Given the description of an element on the screen output the (x, y) to click on. 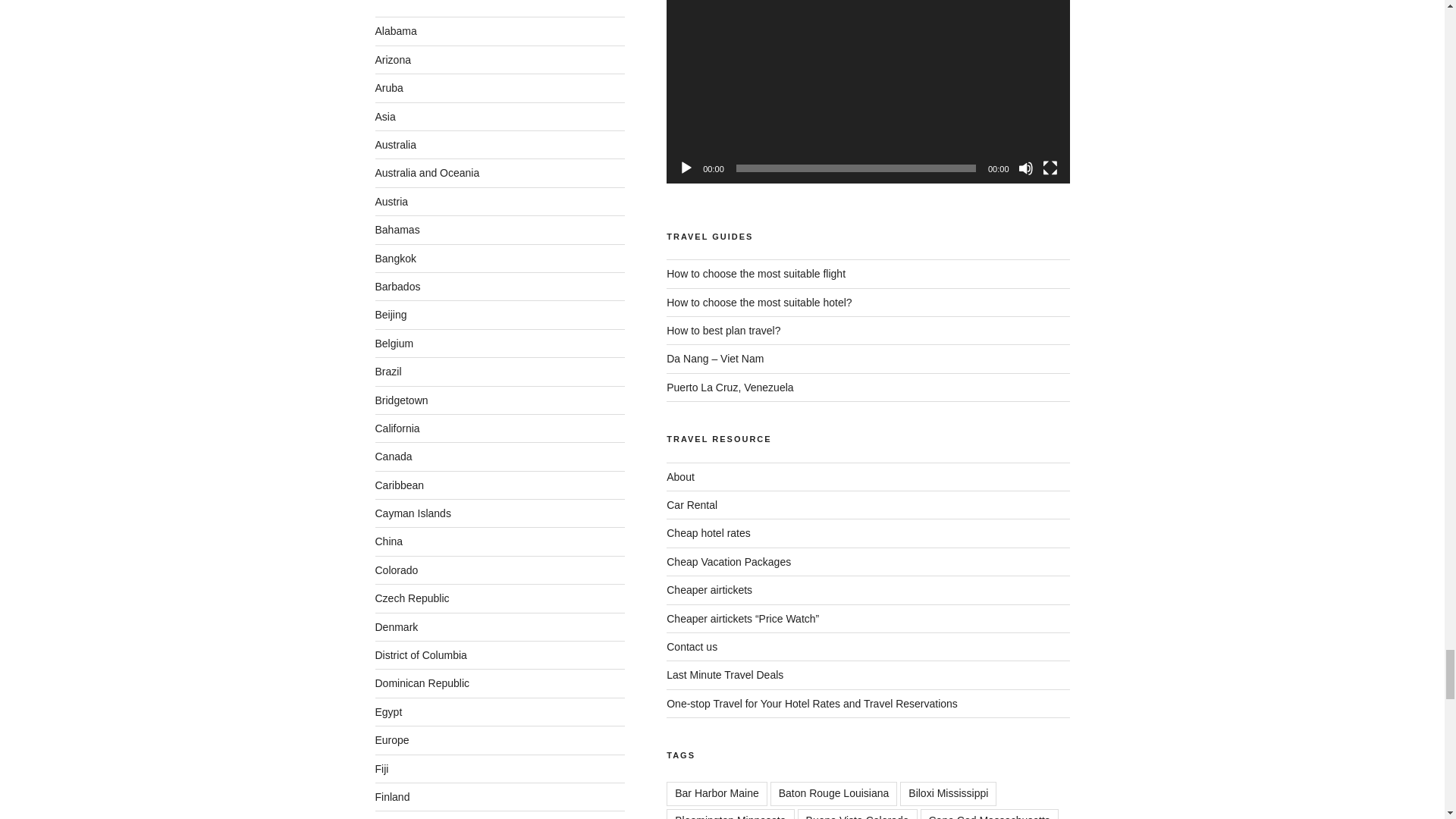
Arizona (392, 60)
Asia (384, 116)
Aruba (388, 87)
Play (686, 168)
Alabama (395, 30)
Australia and Oceania (426, 173)
Austria (390, 201)
Australia (394, 144)
Mute (1024, 168)
